Given the description of an element on the screen output the (x, y) to click on. 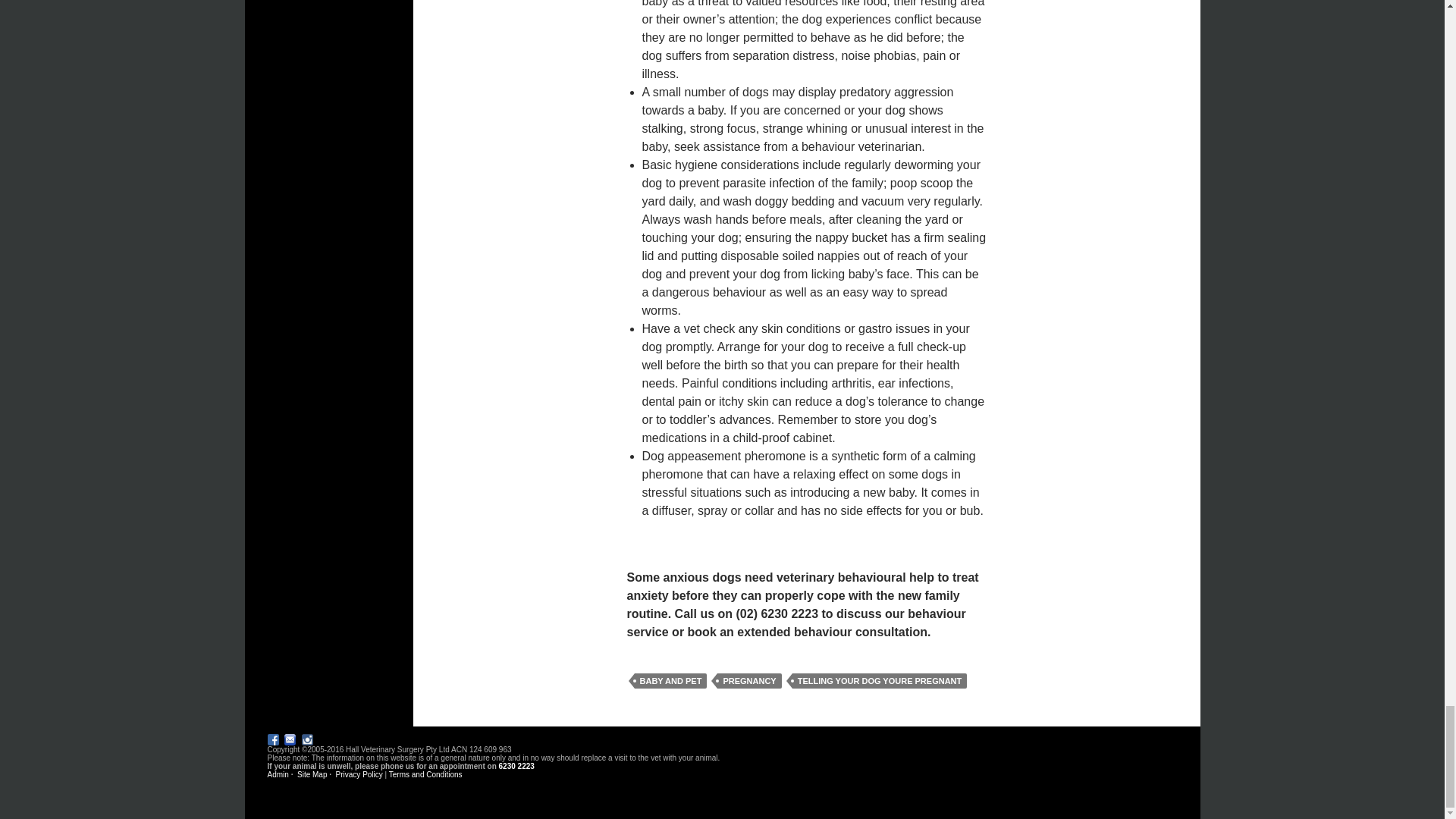
BABY AND PET (669, 680)
TELLING YOUR DOG YOURE PREGNANT (880, 680)
PREGNANCY (748, 680)
